Given the description of an element on the screen output the (x, y) to click on. 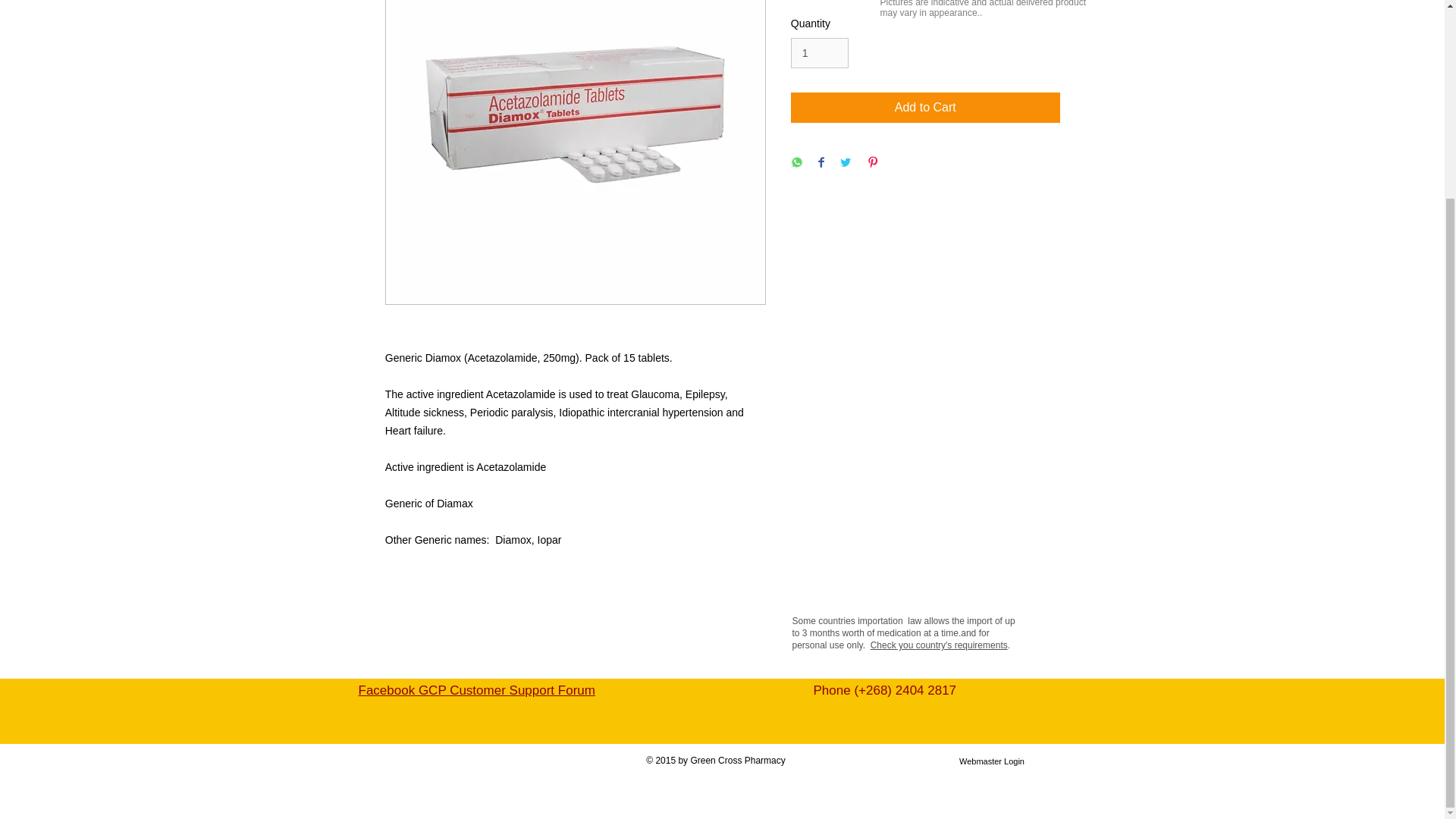
Add to Cart (924, 107)
1 (819, 52)
